Given the description of an element on the screen output the (x, y) to click on. 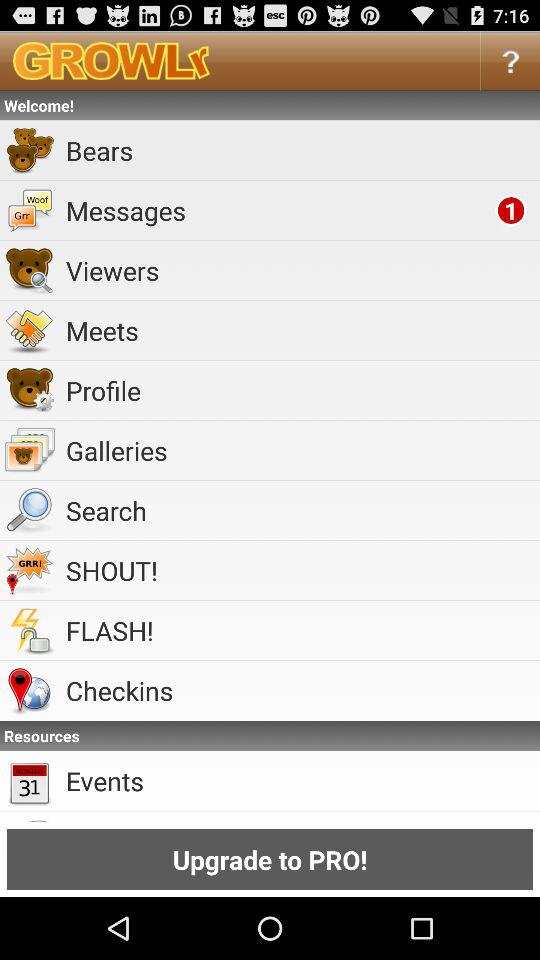
press icon above the resources icon (299, 690)
